Given the description of an element on the screen output the (x, y) to click on. 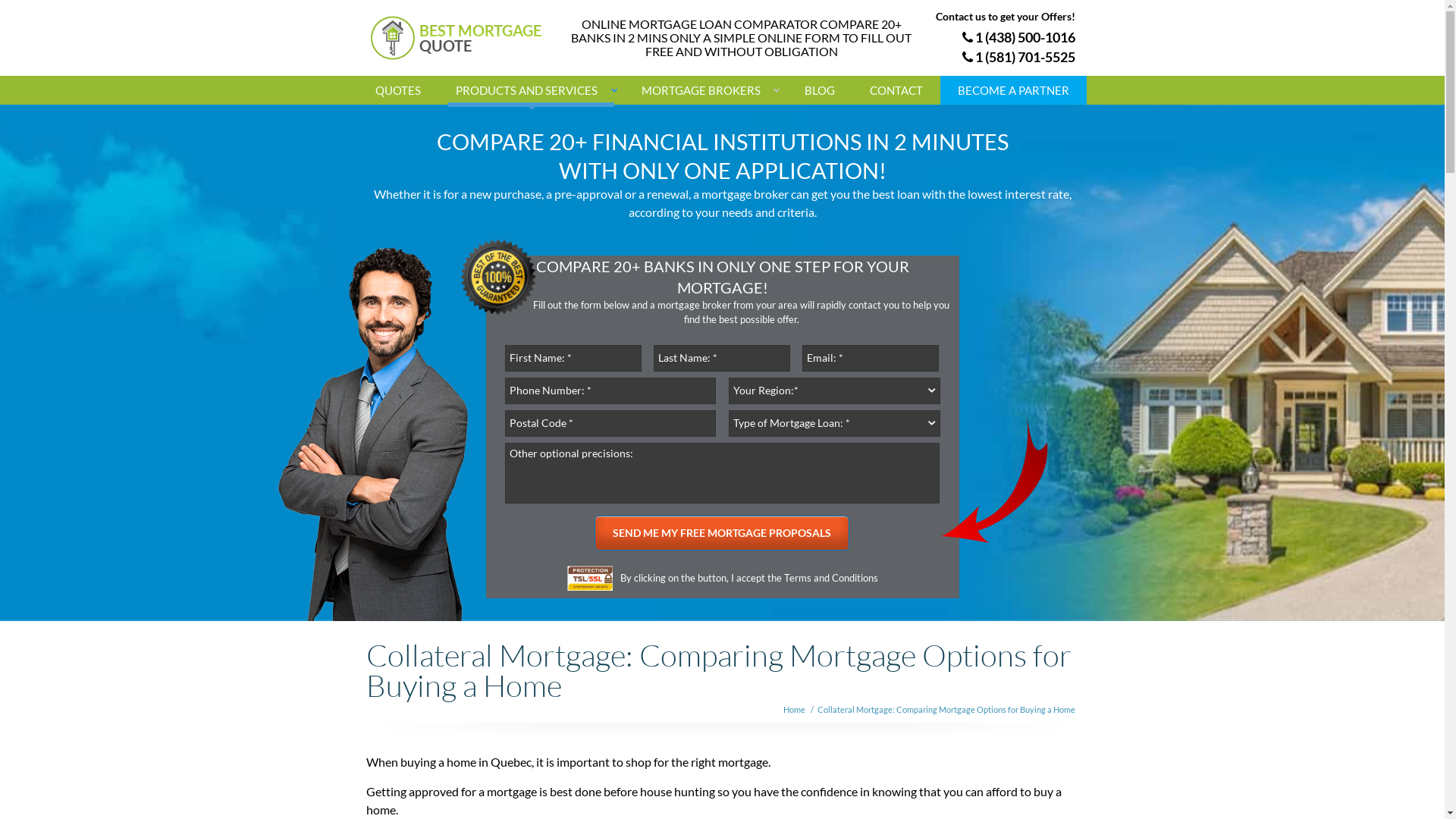
BEST MORTGAGE
QUOTE Element type: text (464, 37)
BECOME A PARTNER Element type: text (1013, 89)
PRODUCTS AND SERVICES Element type: text (531, 89)
Home Element type: text (793, 709)
SEND ME MY FREE MORTGAGE PROPOSALS Element type: text (721, 532)
Terms and Conditions Element type: text (831, 577)
1 (438) 500-1016 Element type: text (1017, 36)
BLOG Element type: text (819, 89)
MORTGAGE BROKERS Element type: text (705, 89)
CONTACT Element type: text (896, 89)
QUOTES Element type: text (397, 89)
1 (581) 701-5525 Element type: text (1017, 56)
